Given the description of an element on the screen output the (x, y) to click on. 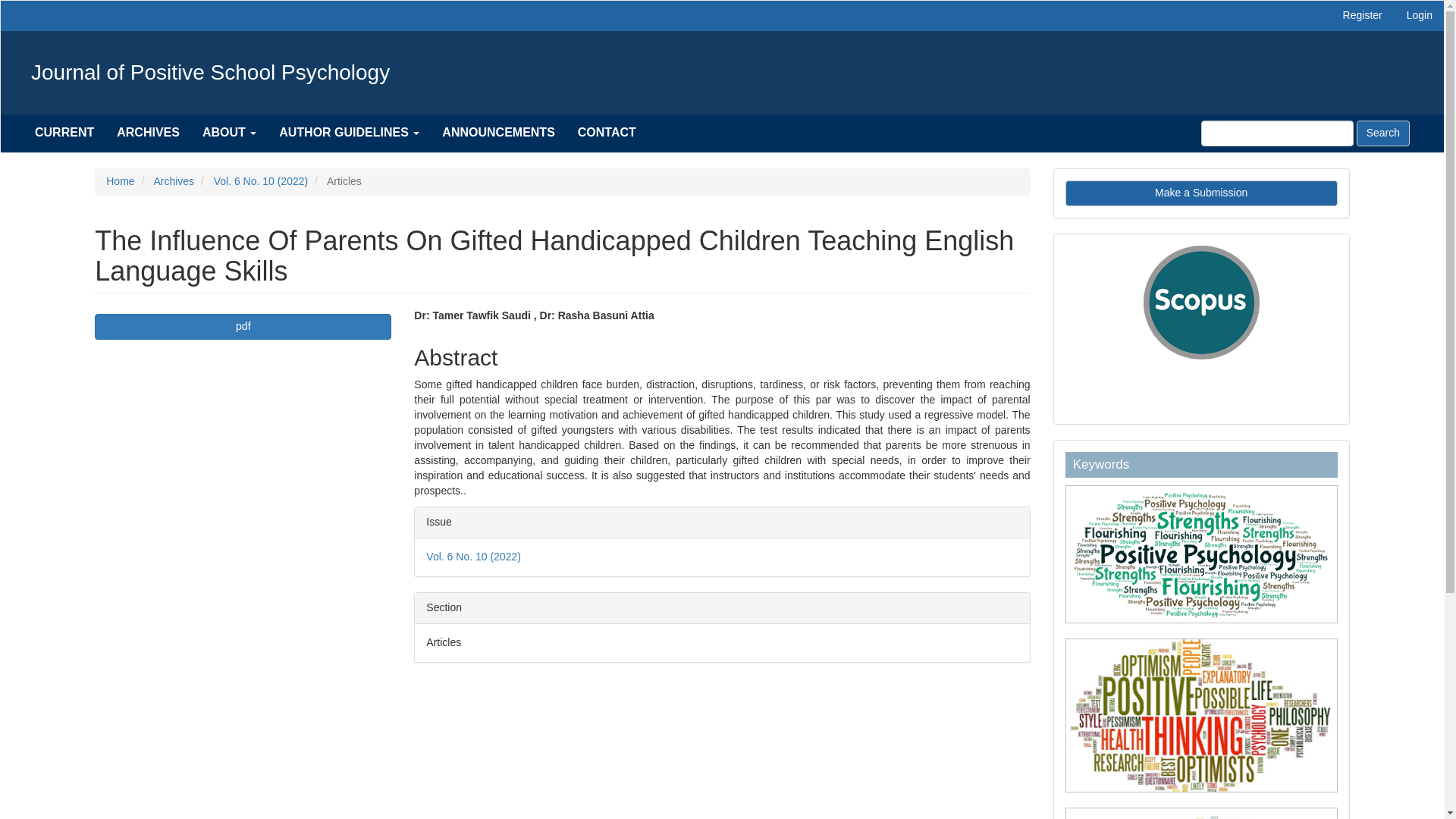
Home (119, 181)
Login (1419, 15)
Archives (172, 181)
ANNOUNCEMENTS (498, 132)
Make a Submission (1201, 193)
Search (1382, 133)
CONTACT (606, 132)
ARCHIVES (147, 132)
Register (1362, 15)
pdf (242, 326)
ABOUT (228, 132)
CURRENT (63, 132)
AUTHOR GUIDELINES (348, 132)
Journal of Positive School Psychology (210, 72)
